Given the description of an element on the screen output the (x, y) to click on. 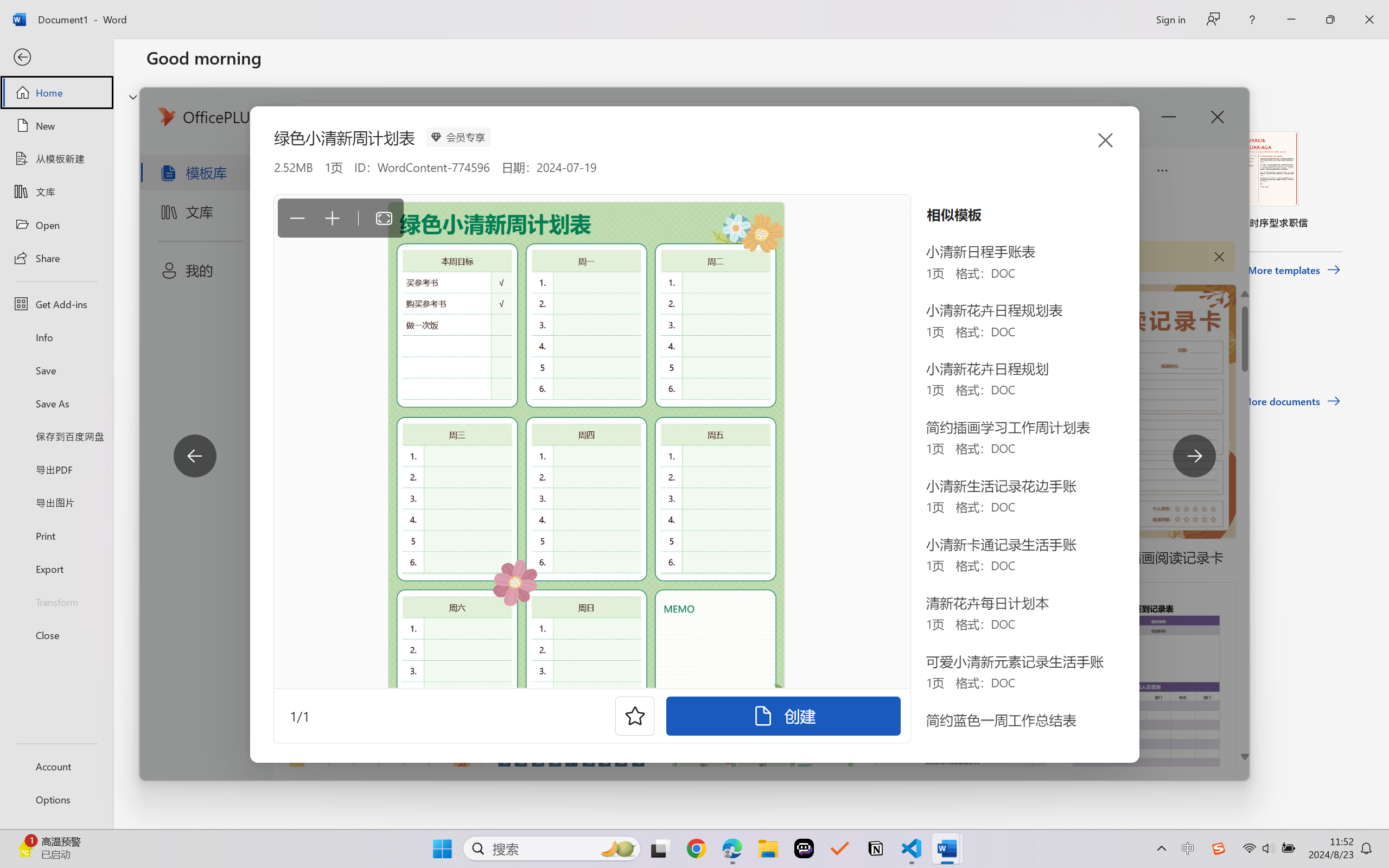
Hide or show region (133, 96)
